Given the description of an element on the screen output the (x, y) to click on. 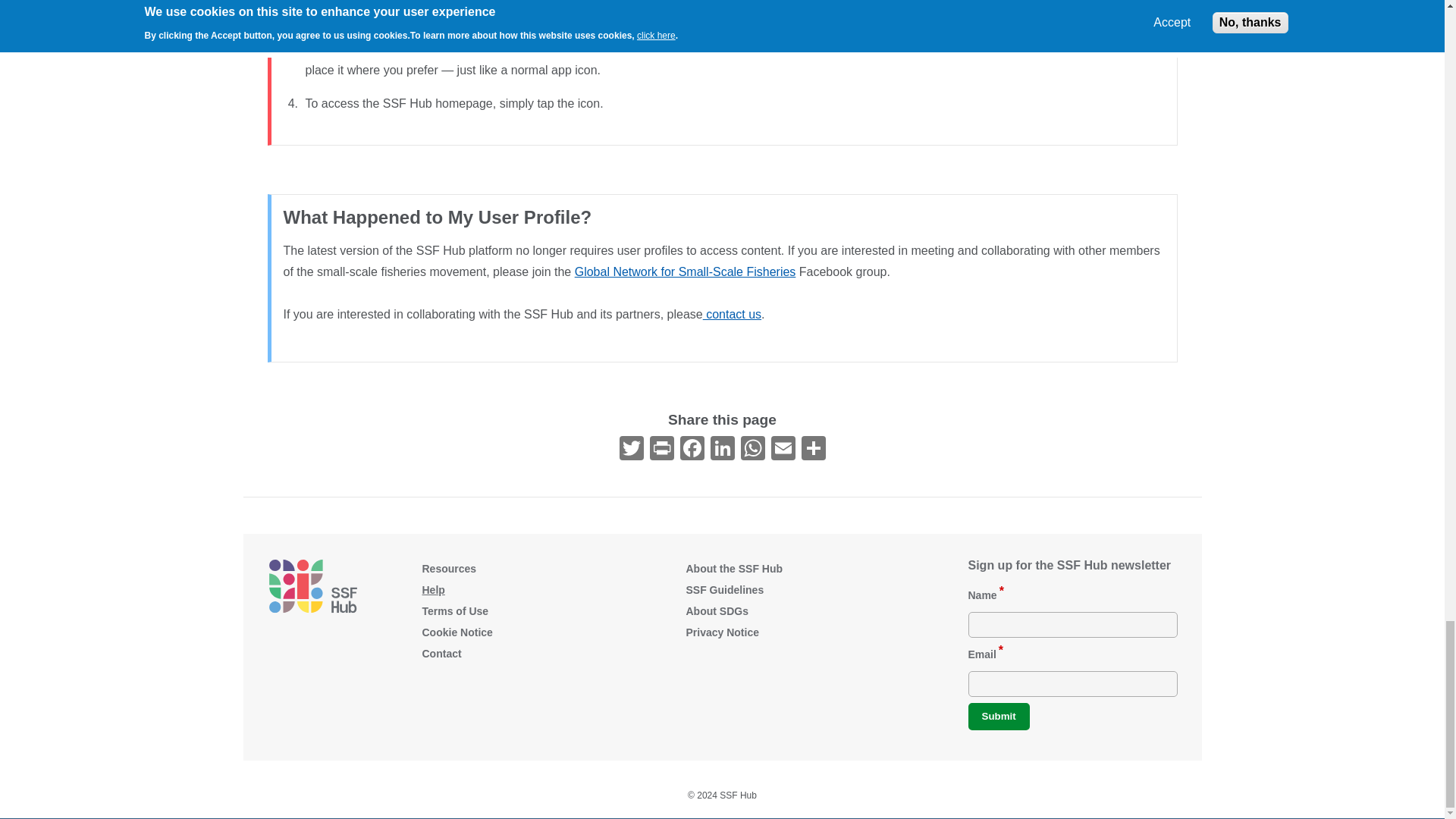
Submit (998, 715)
Home (312, 585)
Contact (732, 314)
